Given the description of an element on the screen output the (x, y) to click on. 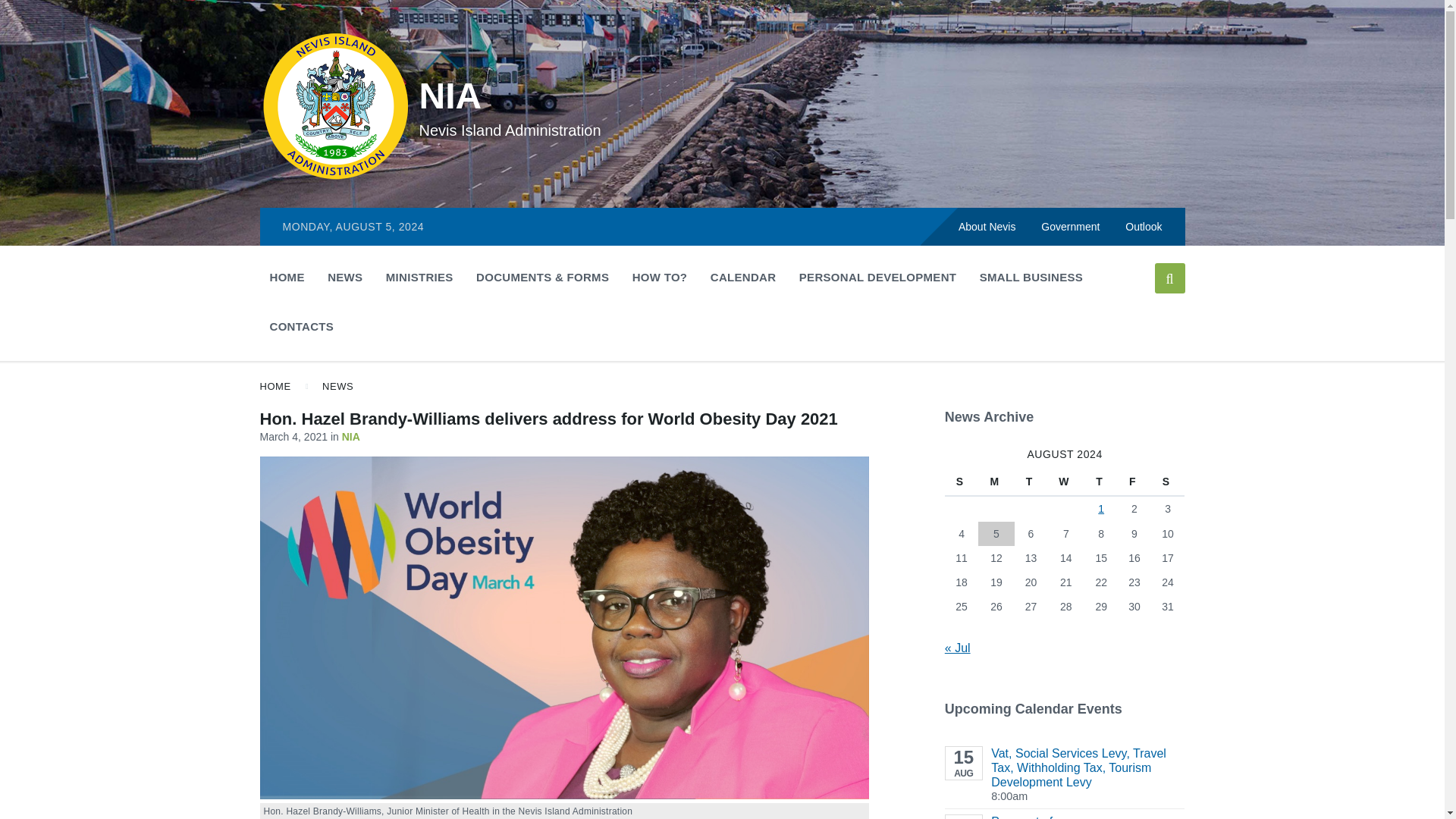
Wednesday (1065, 481)
NIA (450, 96)
HOME (286, 277)
Thursday (1101, 481)
Tuesday (1031, 481)
Government (1070, 226)
Outlook (1143, 226)
Friday (1134, 481)
Saturday (1168, 481)
About Nevis (986, 226)
NEWS (344, 277)
MINISTRIES (419, 277)
Sunday (961, 481)
Monday (995, 481)
